Given the description of an element on the screen output the (x, y) to click on. 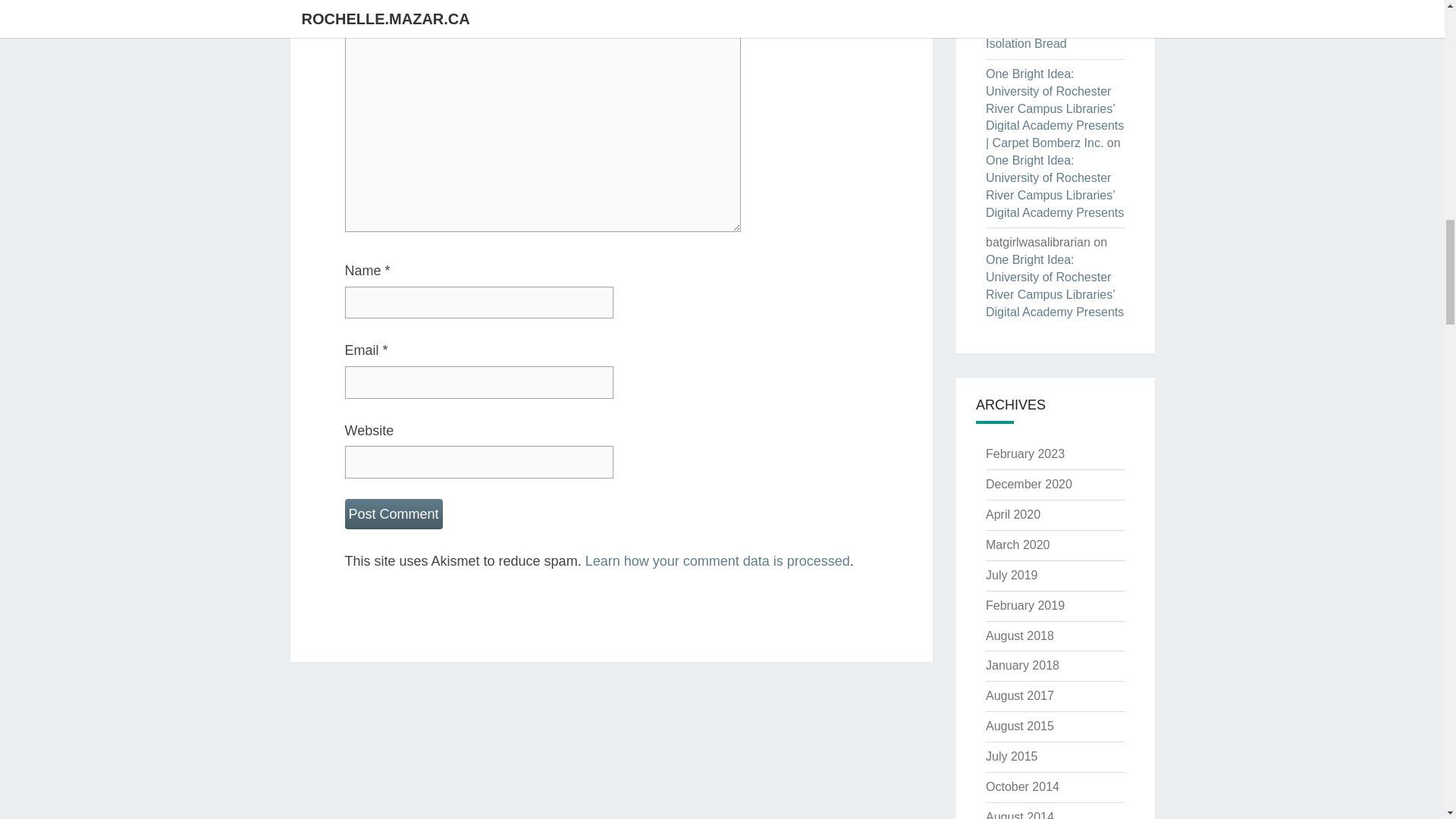
December 2020 (1028, 483)
Learn how your comment data is processed (717, 560)
Self-Isolation Bread (1053, 1)
February 2023 (1024, 453)
Post Comment (392, 513)
July 2019 (1011, 574)
March 2020 (1017, 544)
Self-Isolation Bread (1042, 34)
Post Comment (392, 513)
April 2020 (1013, 513)
February 2019 (1024, 604)
